Given the description of an element on the screen output the (x, y) to click on. 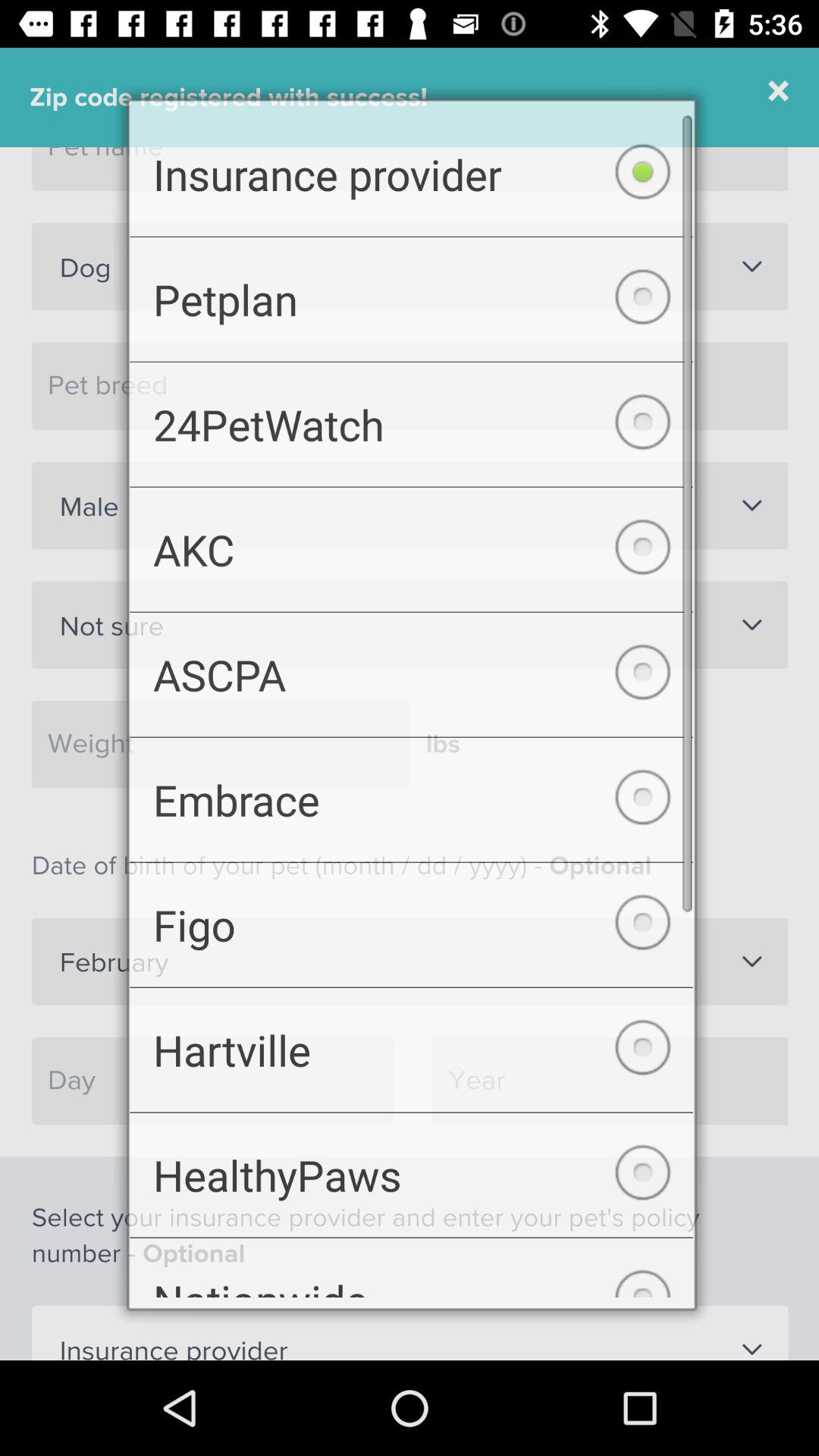
open the checkbox above figo checkbox (411, 802)
